Given the description of an element on the screen output the (x, y) to click on. 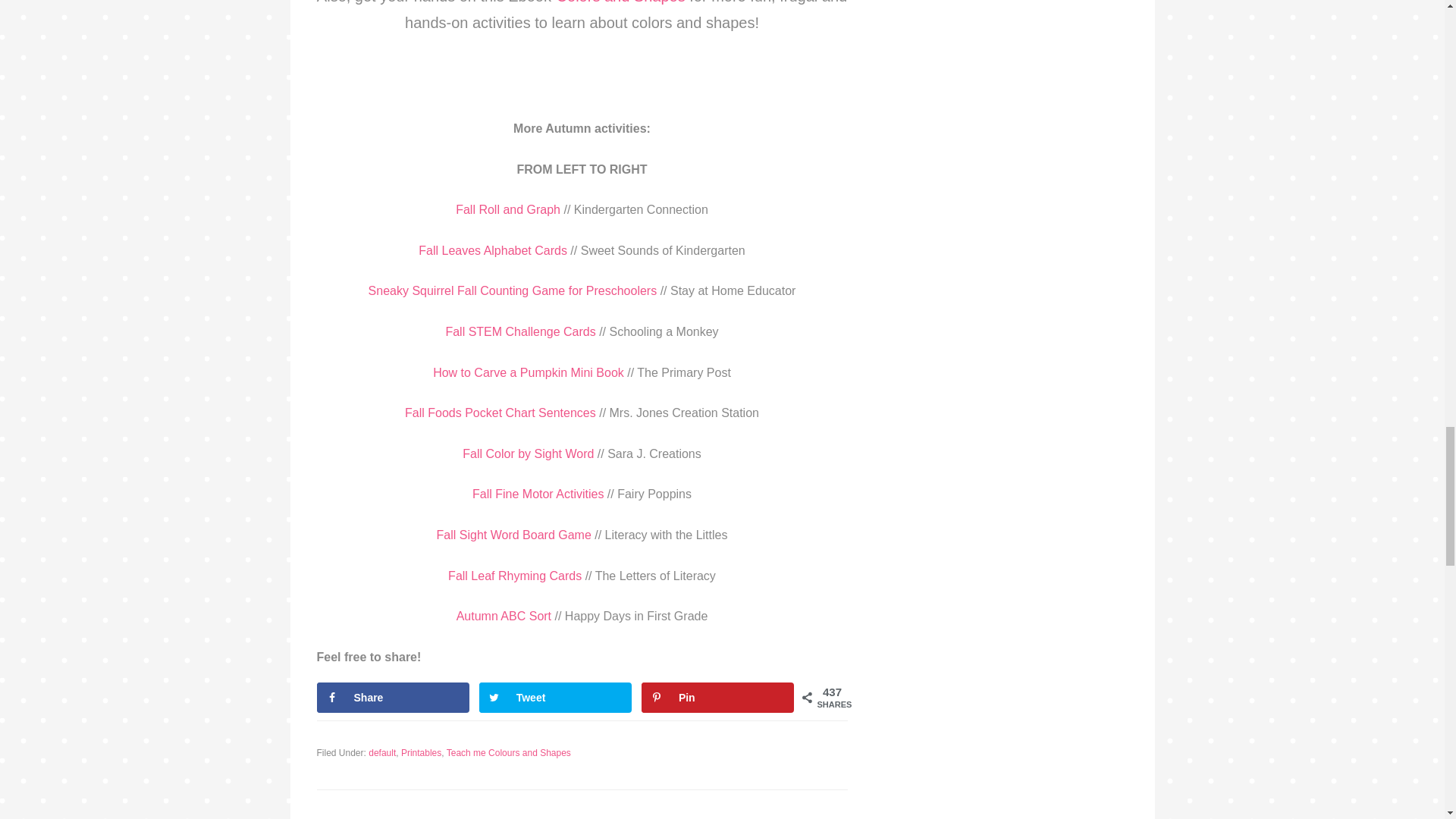
Save to Pinterest (718, 697)
Colors and Shapes (623, 2)
Fall STEM Challenge Cards (520, 331)
Fall Leaves Alphabet Cards (493, 250)
Share on Twitter (555, 697)
How to Carve a Pumpkin Mini Book  (529, 372)
Fall Roll and Graph (507, 209)
Sneaky Squirrel Fall Counting Game for Preschoolers (513, 290)
Share on Facebook (393, 697)
